Given the description of an element on the screen output the (x, y) to click on. 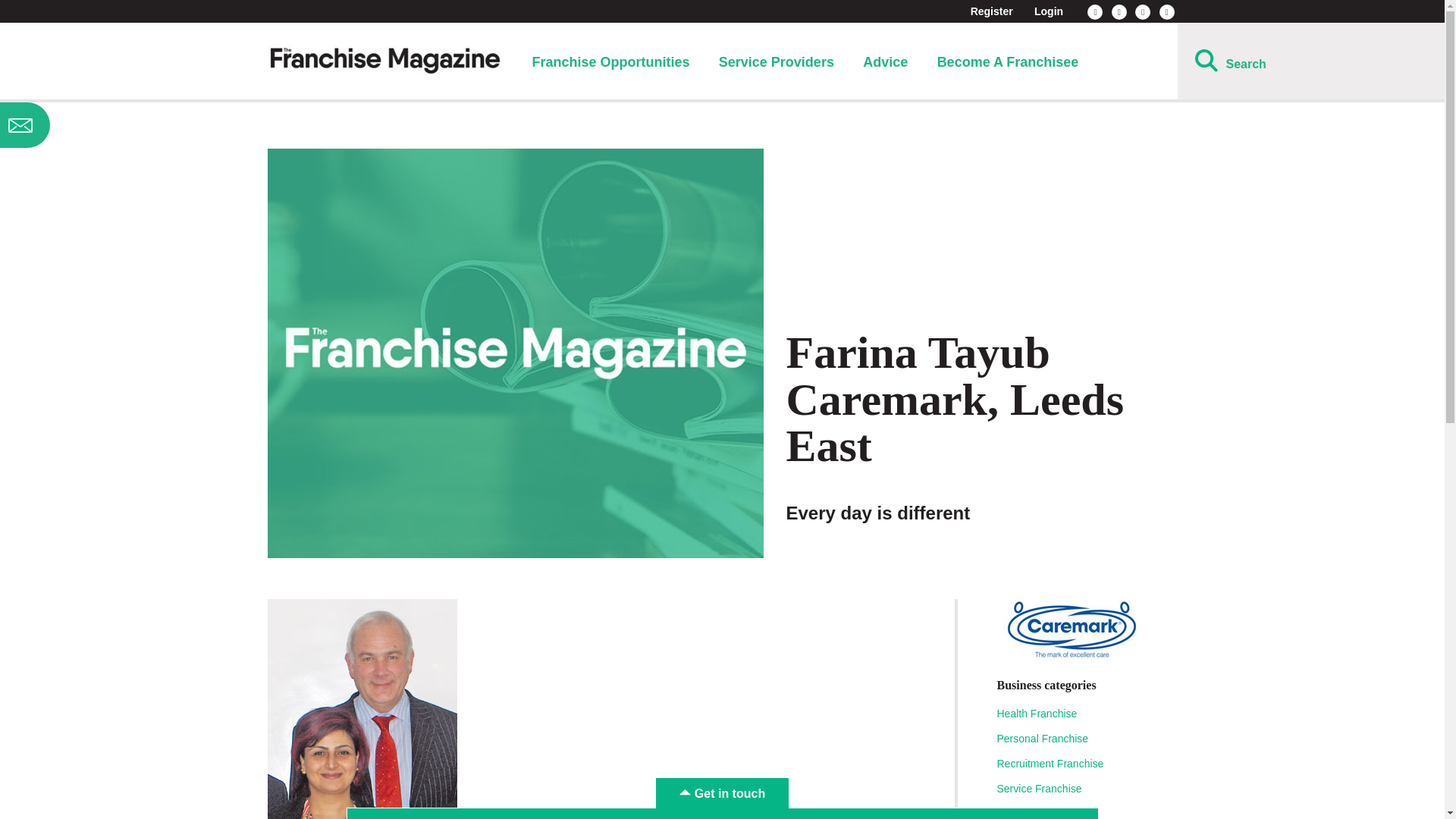
Login (1047, 10)
Service Providers (776, 61)
Login (1047, 10)
Become A Franchisee (1007, 61)
Franchise Opportunities (609, 61)
Advice (885, 61)
Service Providers (776, 61)
Sign up to the newsletter (120, 125)
SignupModal (120, 125)
Register (992, 10)
